Given the description of an element on the screen output the (x, y) to click on. 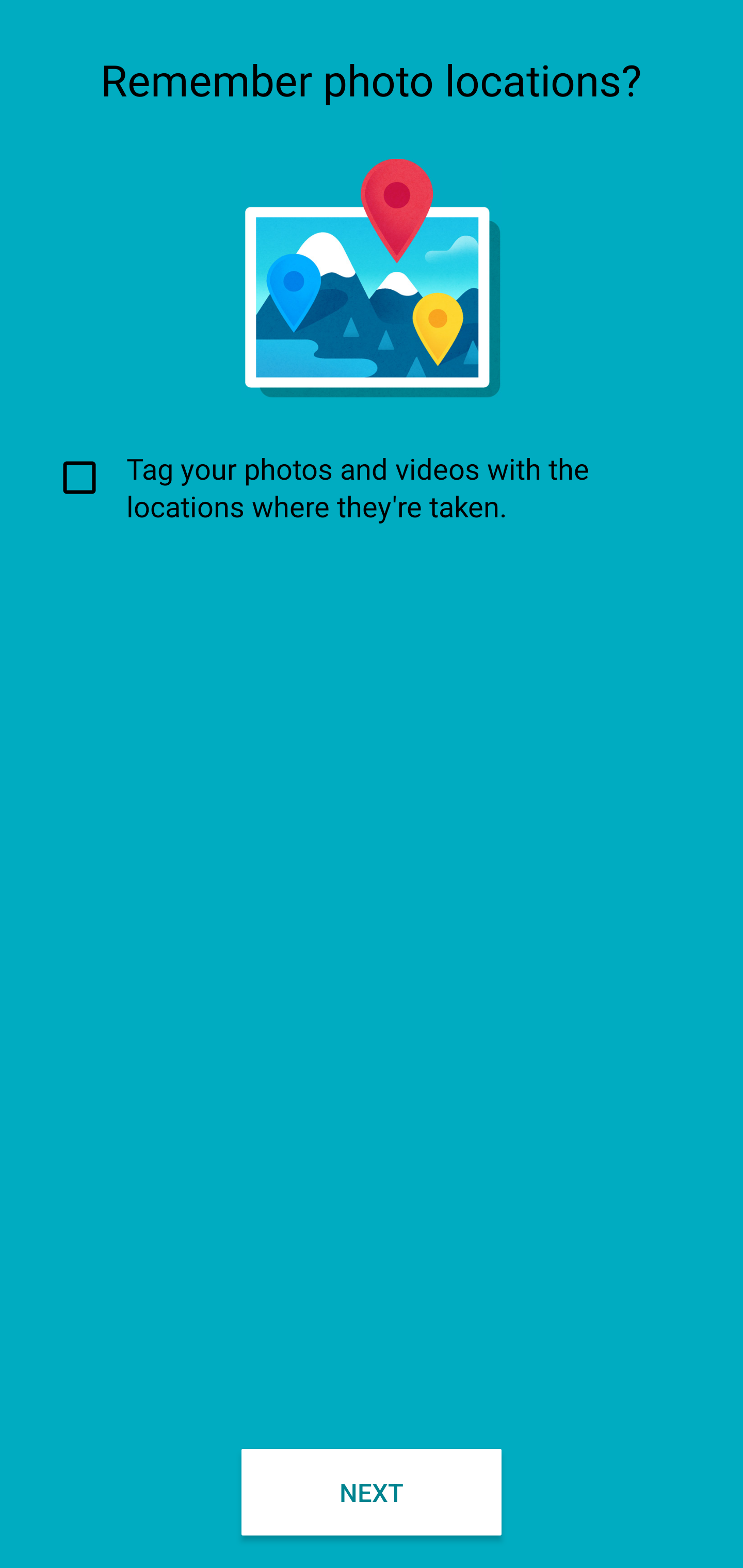
NEXT (371, 1491)
